Given the description of an element on the screen output the (x, y) to click on. 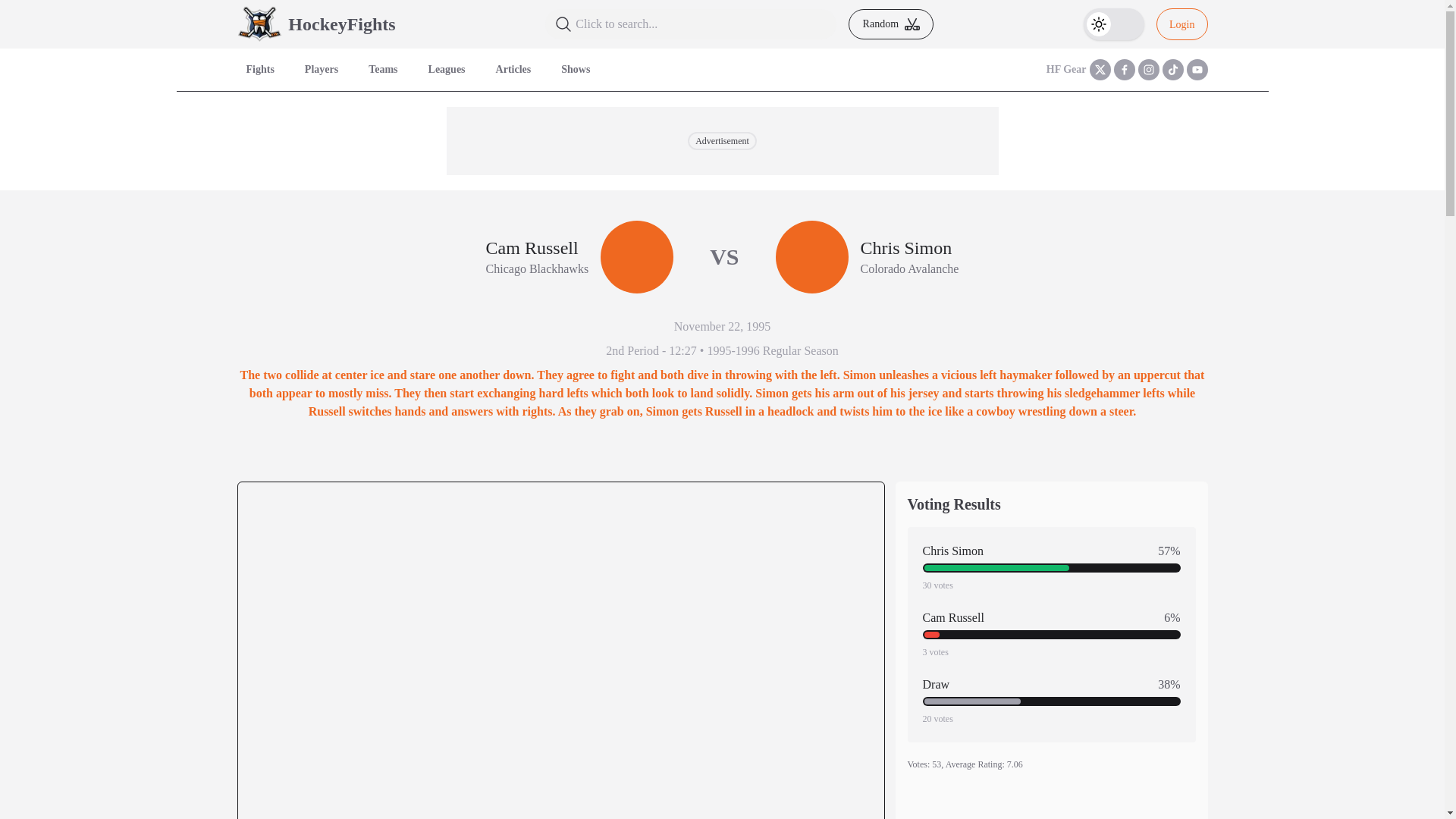
Random (890, 24)
Chris Simon (909, 247)
Teams (382, 69)
Shows (574, 69)
Fights (258, 69)
Leagues (446, 69)
Cam Russell (537, 247)
HockeyFights (341, 24)
Articles (513, 69)
HF Gear (1066, 69)
Chicago Blackhawks (537, 269)
Colorado Avalanche (909, 269)
Players (321, 69)
